Given the description of an element on the screen output the (x, y) to click on. 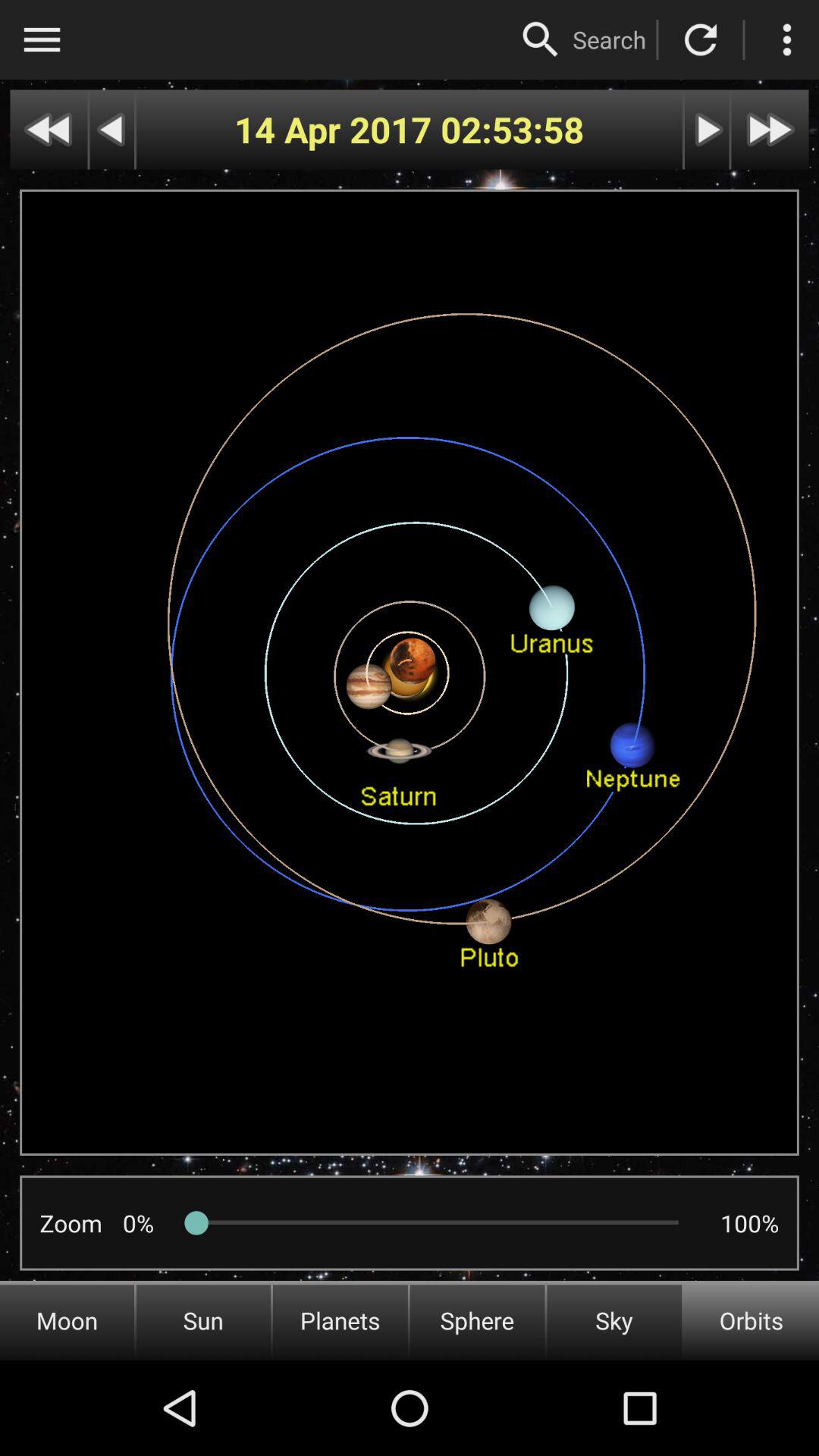
go back (111, 129)
